Given the description of an element on the screen output the (x, y) to click on. 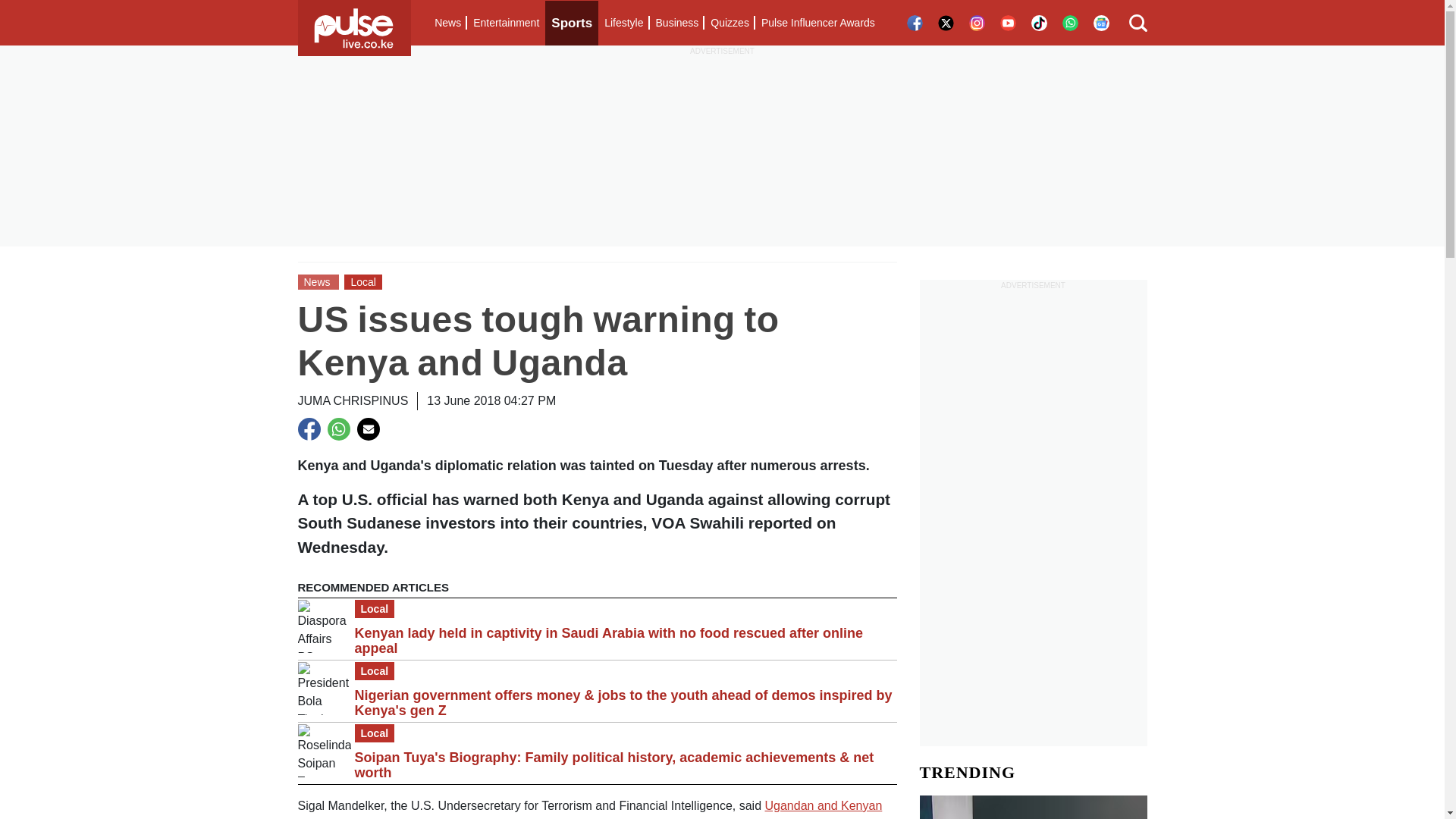
Sports (571, 22)
Pulse Influencer Awards (817, 22)
Entertainment (505, 22)
Lifestyle (623, 22)
Quizzes (729, 22)
News (447, 22)
Business (676, 22)
